Given the description of an element on the screen output the (x, y) to click on. 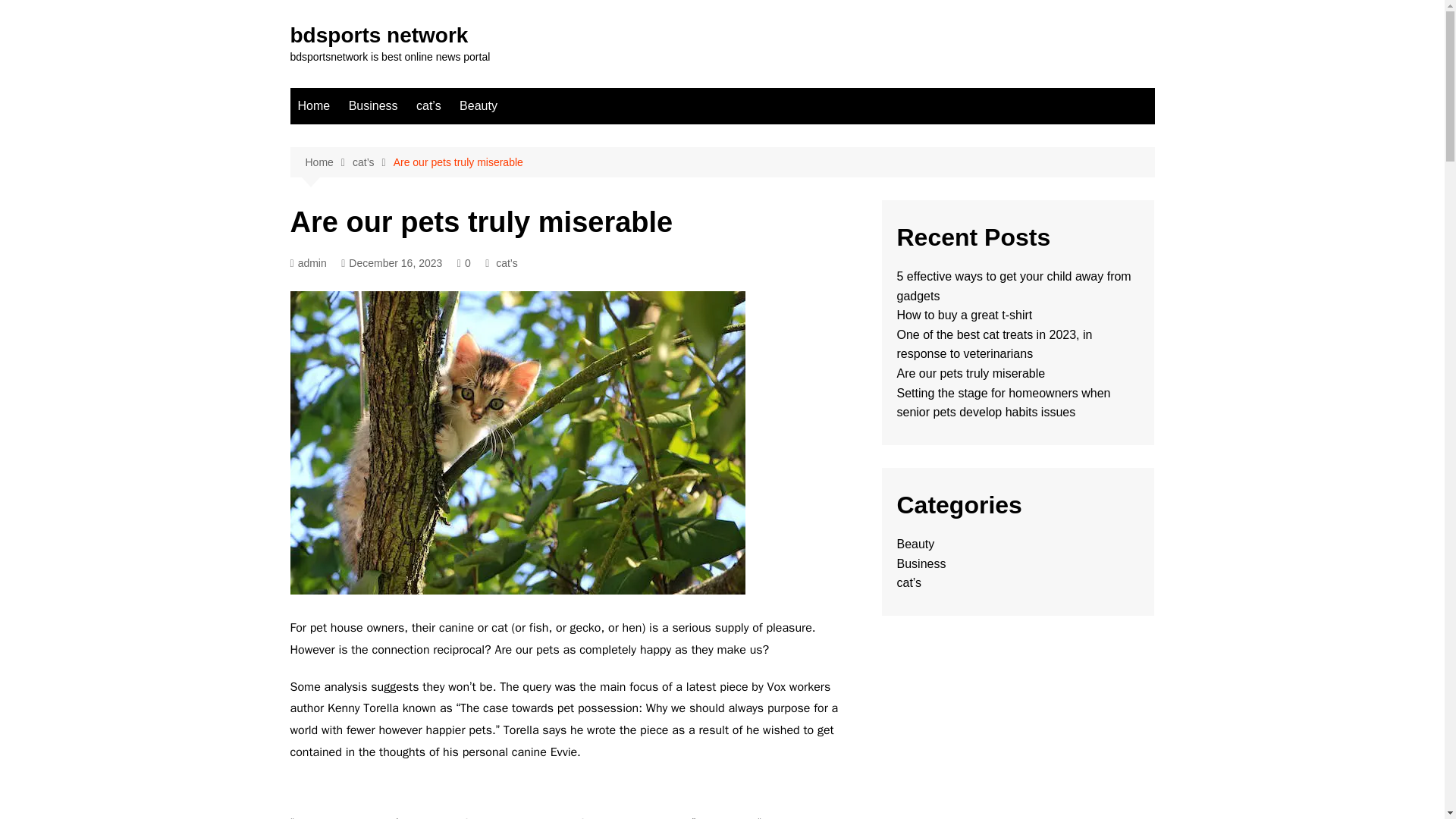
bdsports network (378, 34)
Beauty (478, 105)
How to buy a great t-shirt (964, 314)
Home (313, 105)
December 16, 2023 (391, 262)
Advertisement (574, 788)
Are our pets truly miserable (457, 161)
Business (373, 105)
admin (307, 262)
5 effective ways to get your child away from gadgets (1013, 286)
Home (328, 162)
